Given the description of an element on the screen output the (x, y) to click on. 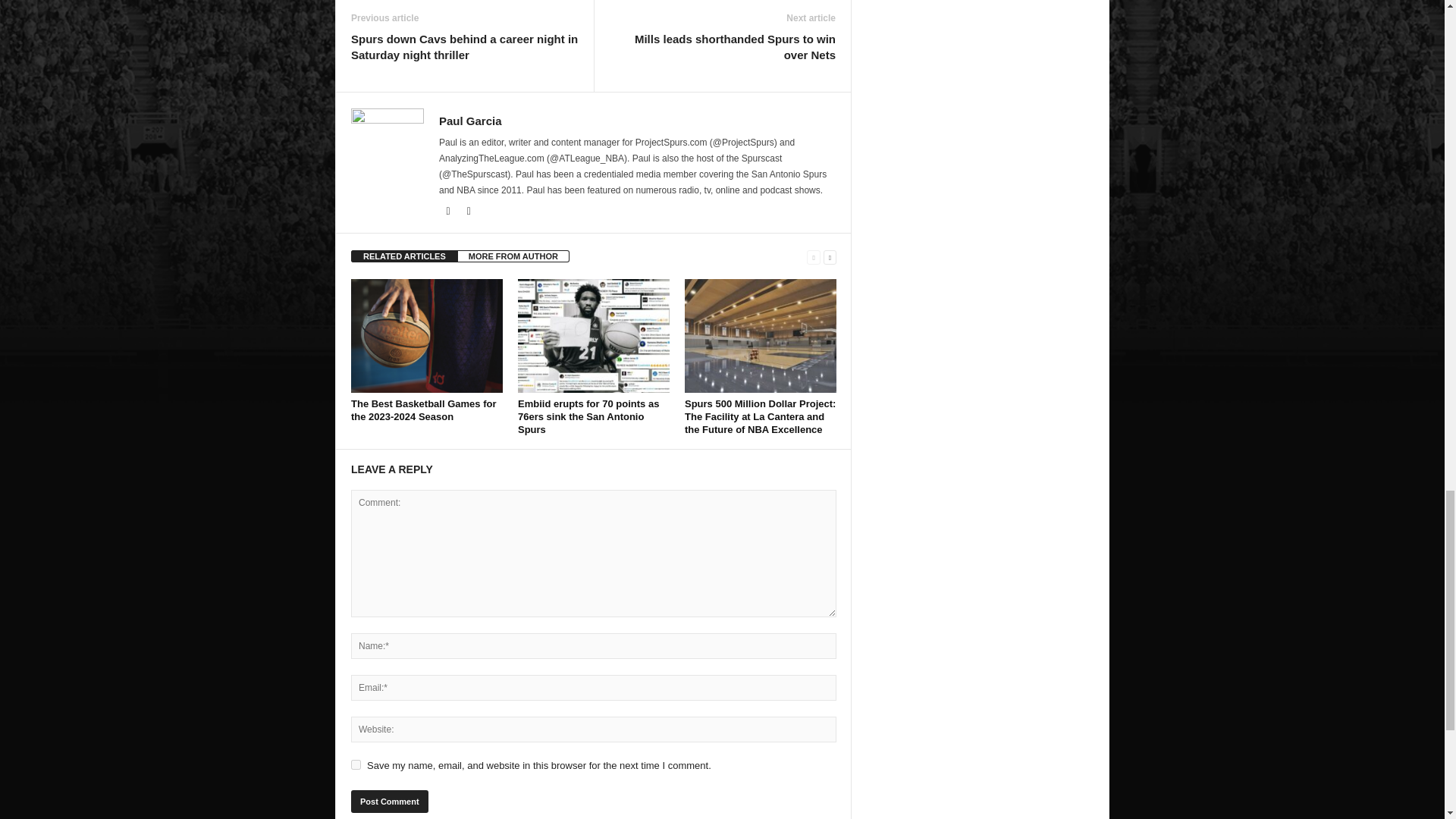
Mail (449, 211)
yes (355, 764)
Post Comment (389, 801)
